Given the description of an element on the screen output the (x, y) to click on. 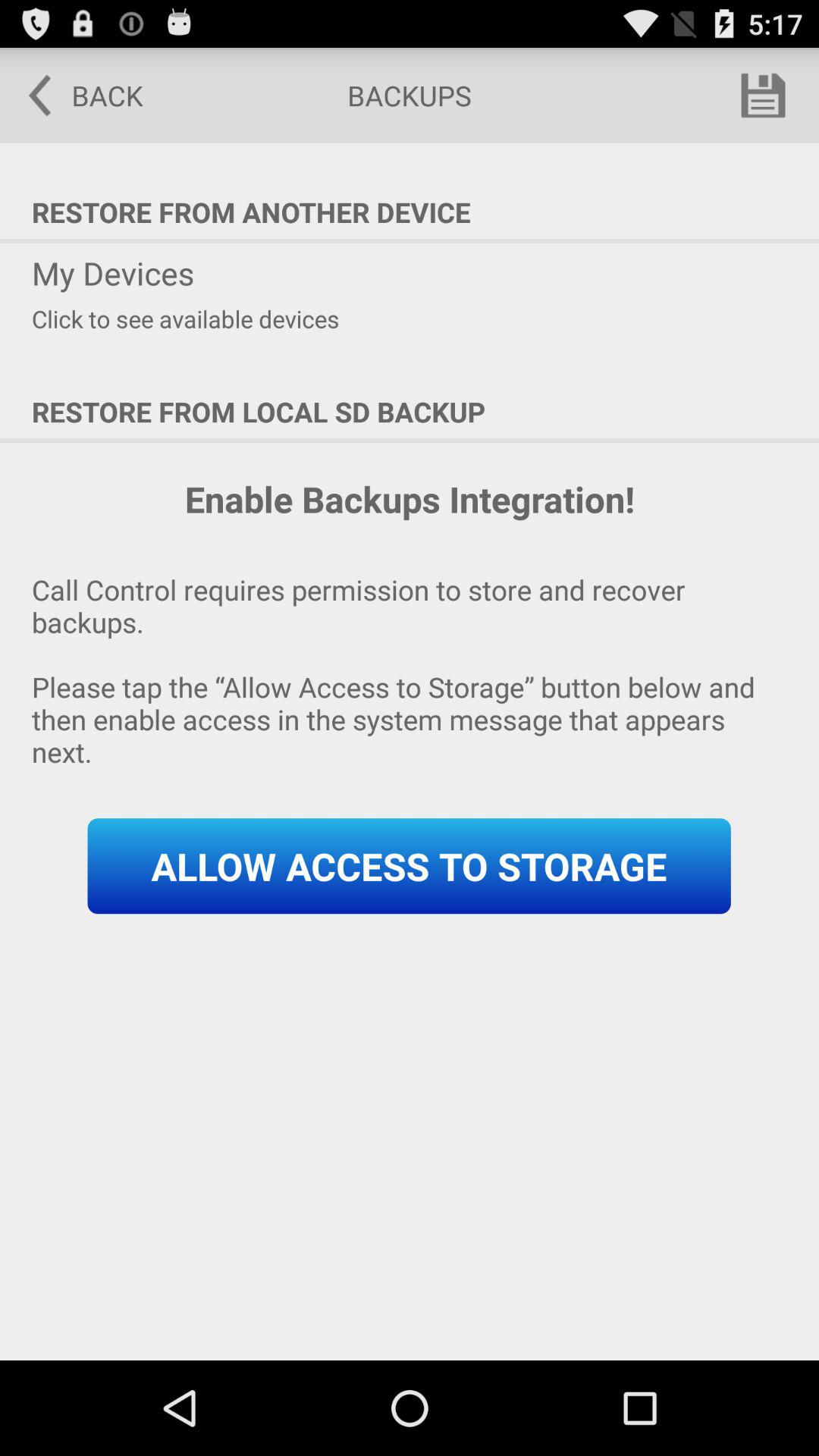
open the back icon (75, 95)
